Given the description of an element on the screen output the (x, y) to click on. 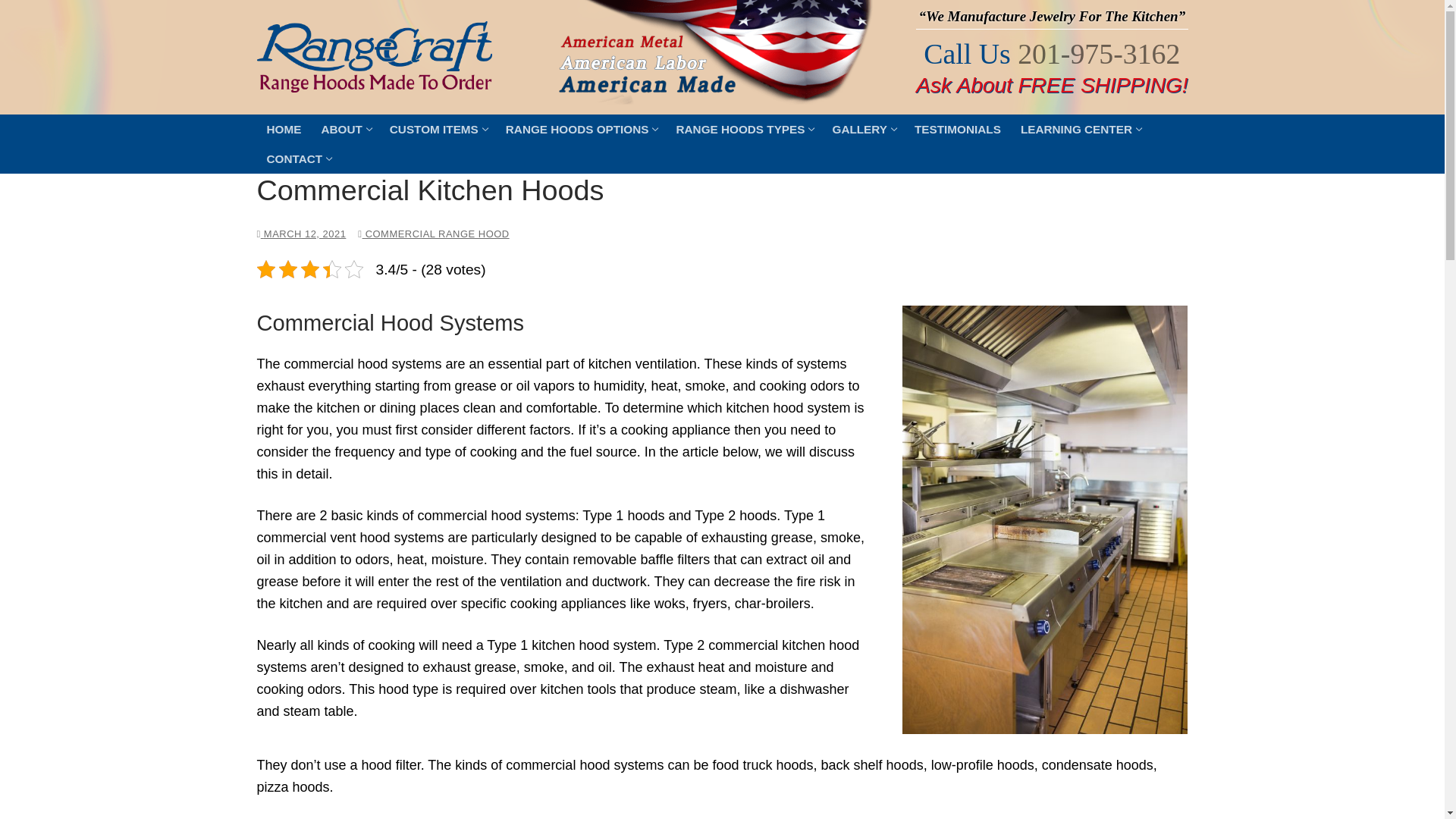
201-975-3162 (863, 129)
HOME (1098, 53)
